Given the description of an element on the screen output the (x, y) to click on. 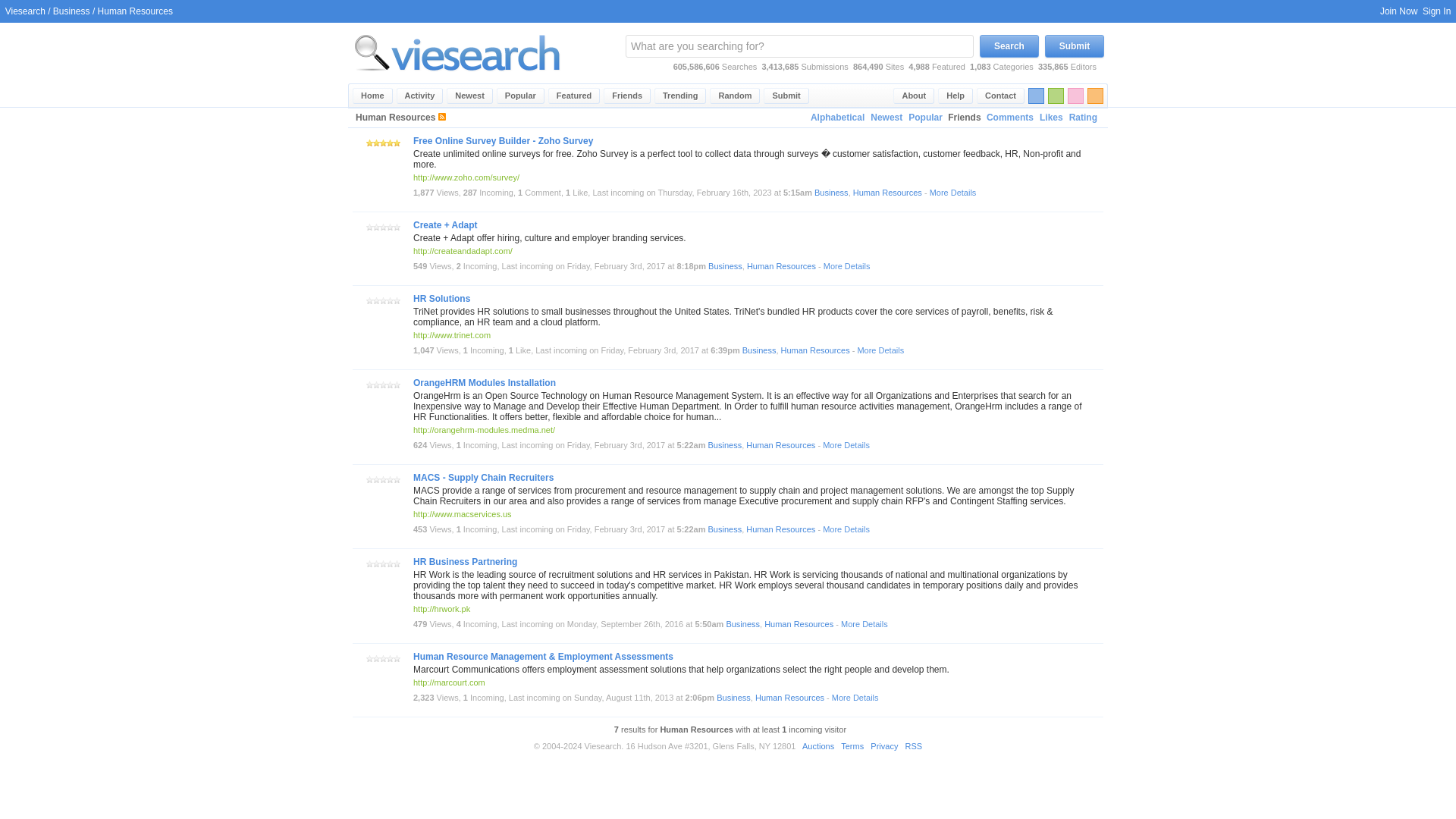
Business (830, 192)
Newest (469, 95)
Business (724, 266)
Popular (520, 95)
About (913, 95)
Submit (1074, 46)
Switch this page to pink (1075, 95)
Rating (1082, 117)
Viesearch (25, 10)
What are you searching for? (800, 46)
